Given the description of an element on the screen output the (x, y) to click on. 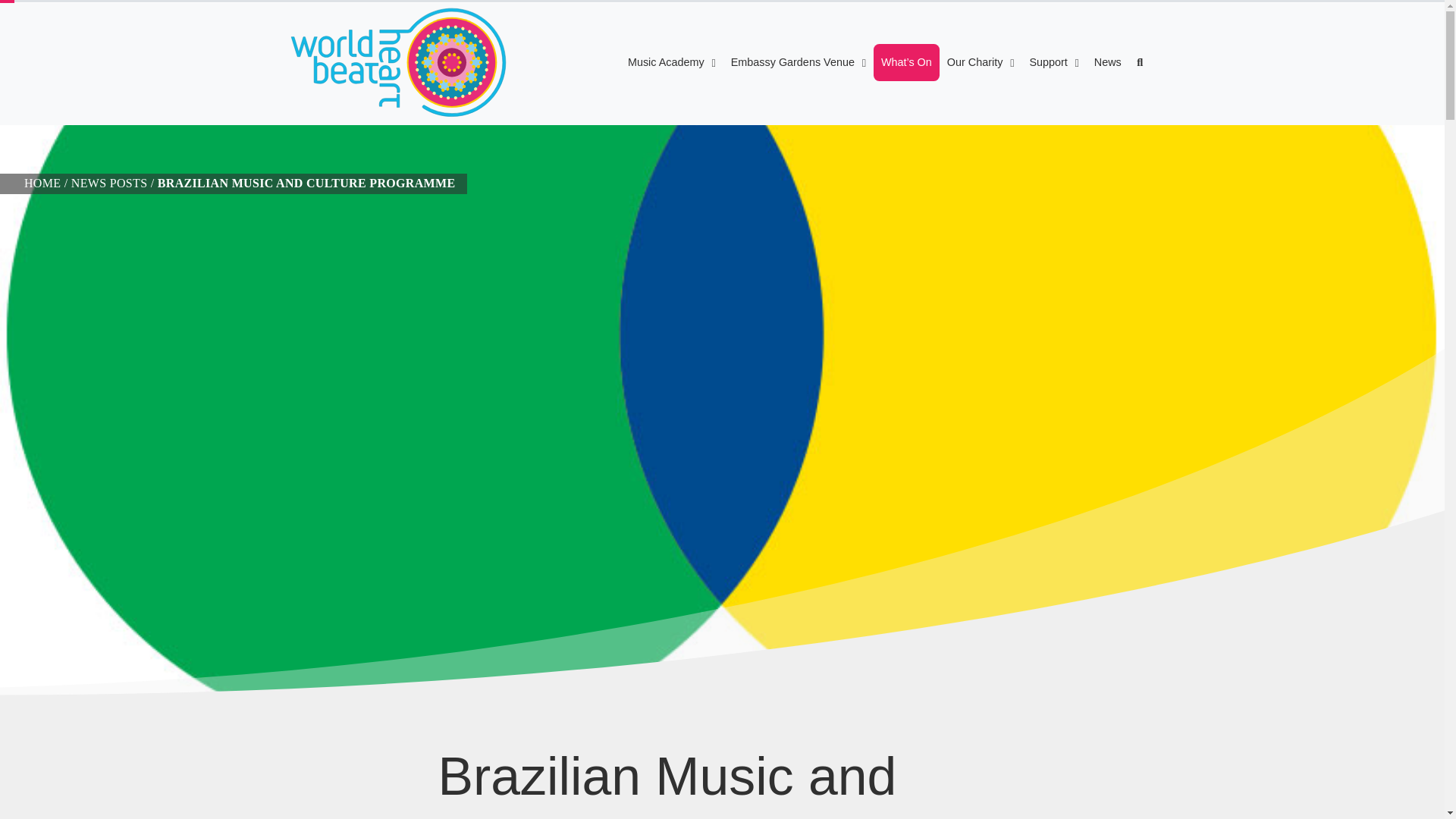
World Heart Beat (397, 62)
Our Charity (980, 62)
Embassy Gardens Venue (798, 62)
Music Academy (671, 62)
